Given the description of an element on the screen output the (x, y) to click on. 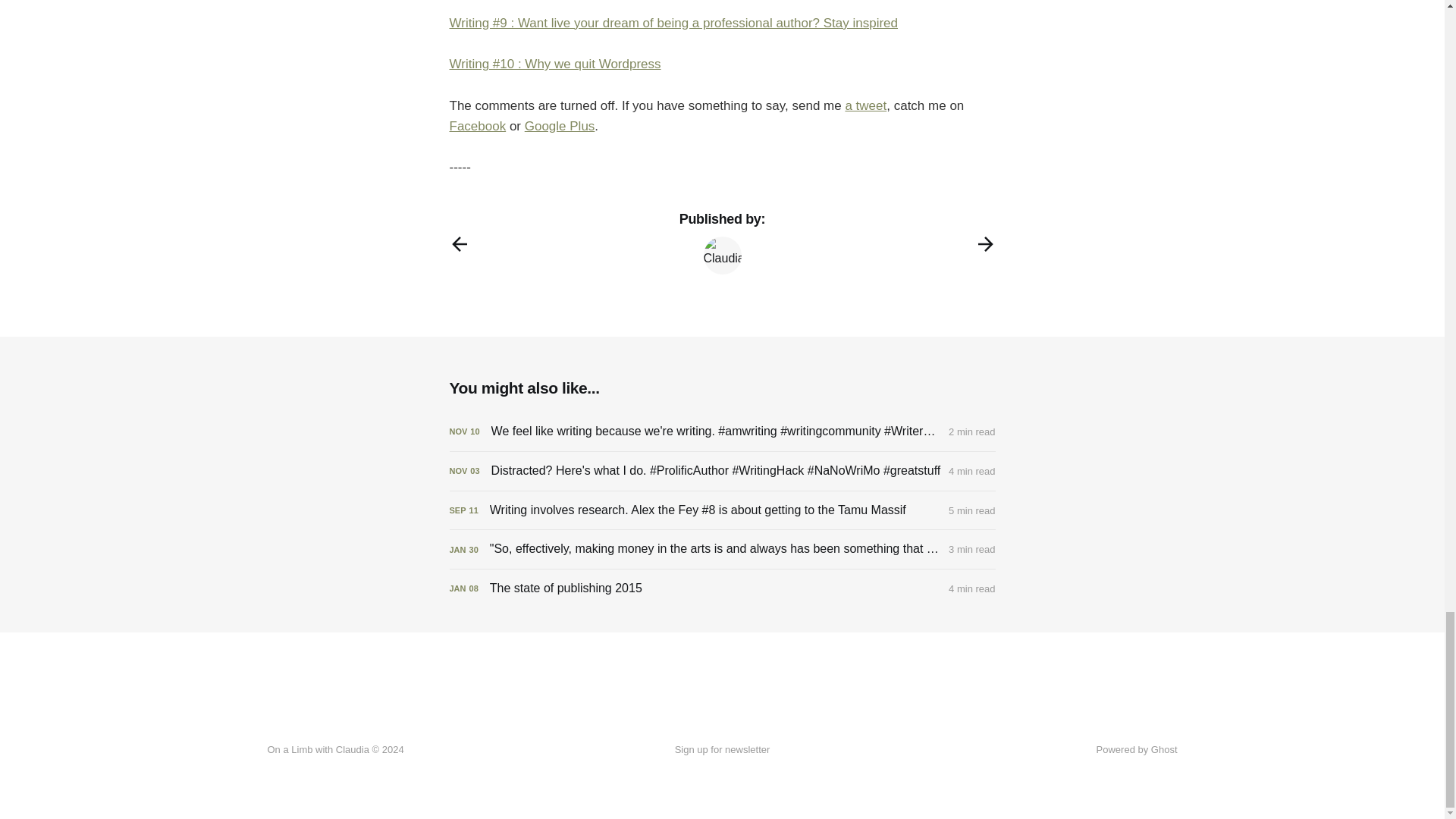
Sign up for newsletter (722, 750)
Facebook (476, 125)
Powered by Ghost (1136, 749)
Google Plus (559, 125)
a tweet (865, 105)
